Given the description of an element on the screen output the (x, y) to click on. 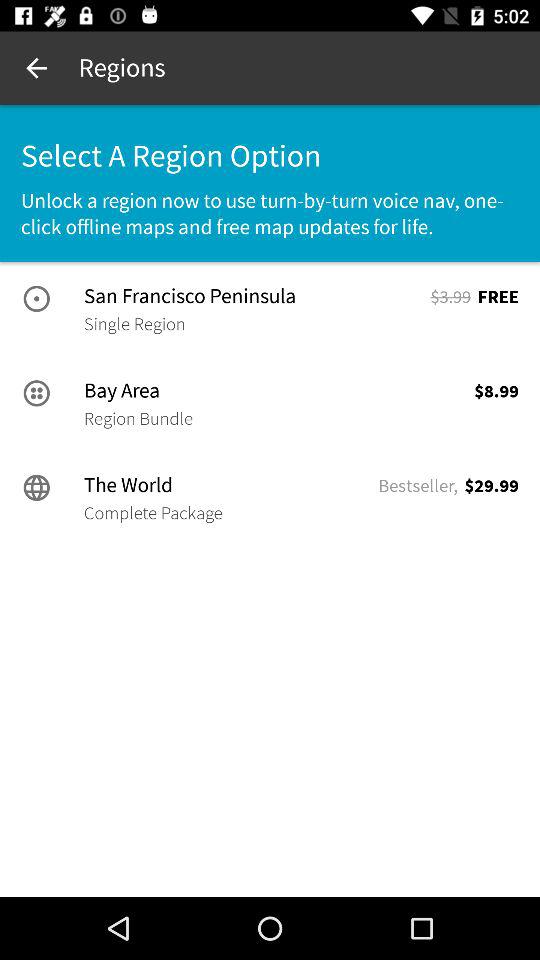
press the icon below the region bundle icon (229, 485)
